Given the description of an element on the screen output the (x, y) to click on. 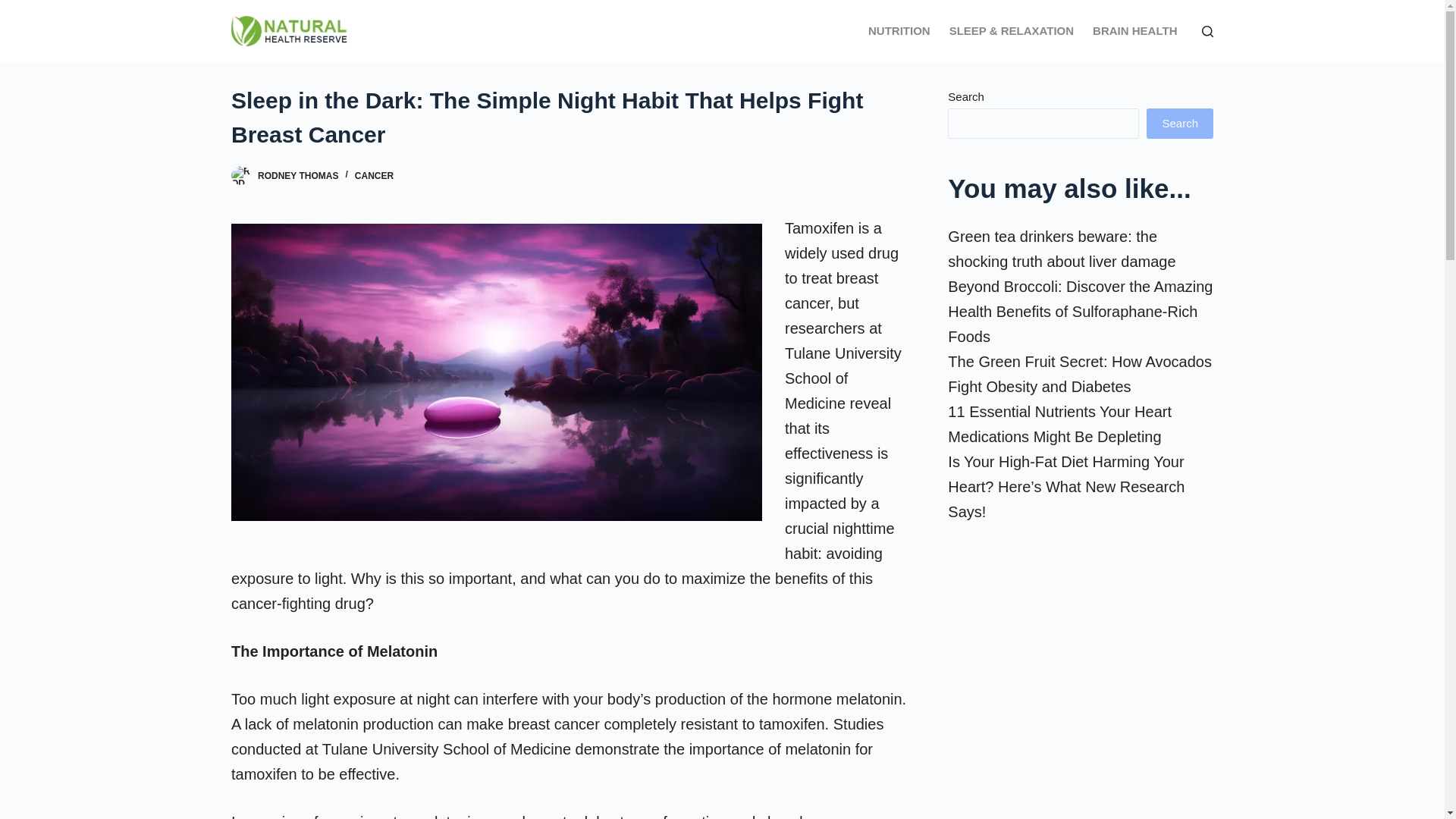
RODNEY THOMAS (297, 175)
Skip to content (15, 7)
Search (1179, 123)
BRAIN HEALTH (1134, 31)
Posts by Rodney Thomas (297, 175)
